Given the description of an element on the screen output the (x, y) to click on. 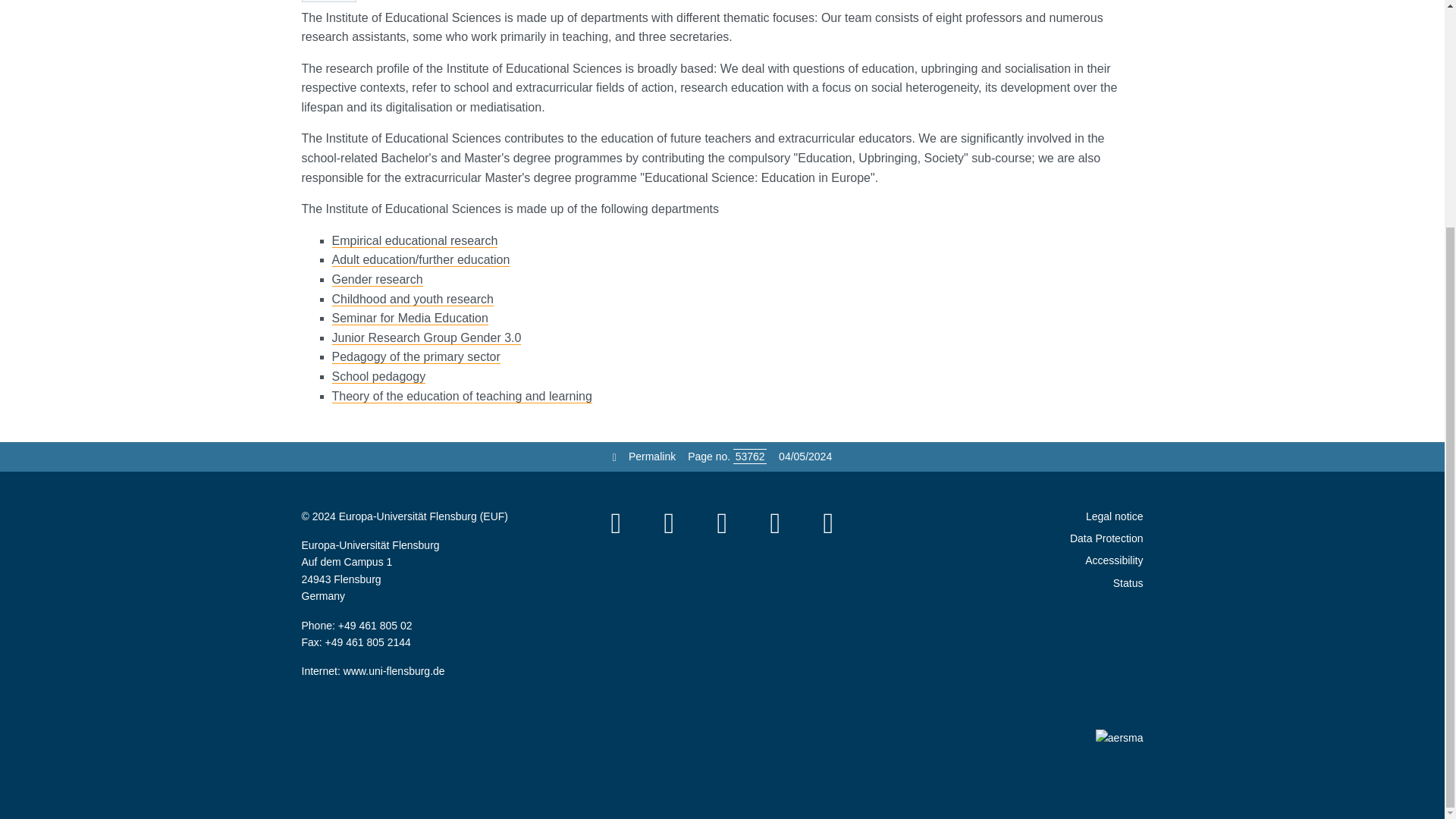
Empirical educational research (414, 241)
Seminar for Media Education (409, 318)
Listen to this page using ReadSpeaker (328, 1)
Please enter the desired page number and press ENTER (750, 456)
Gender research (377, 279)
Pedagogy of the primary sector (415, 356)
Childhood and youth research (412, 299)
Listen (328, 1)
